Given the description of an element on the screen output the (x, y) to click on. 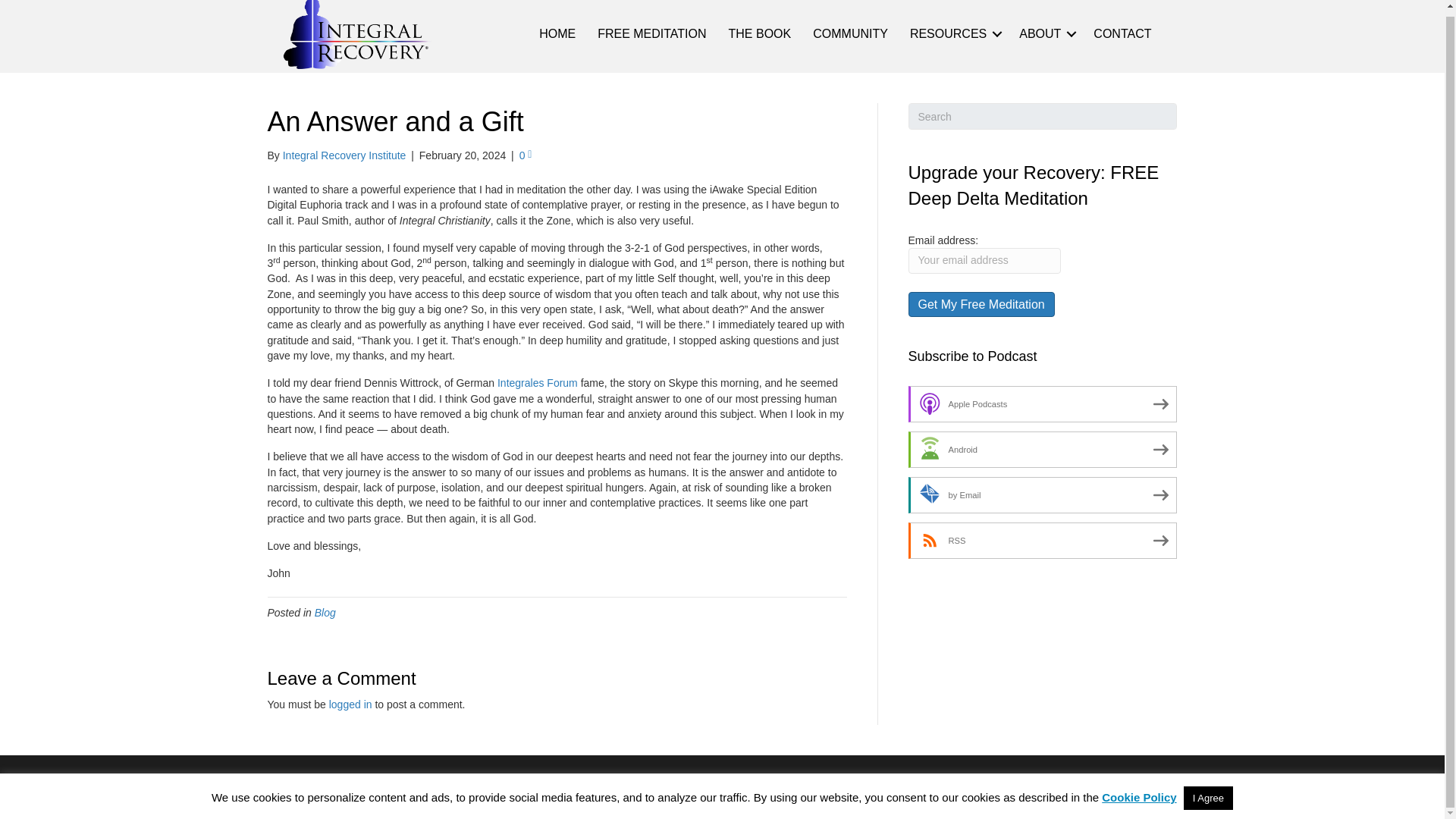
COMMUNITY (850, 33)
I Agree (1208, 792)
Integrales Forum (537, 382)
Cookie Policy (1114, 786)
Home (738, 786)
IR-Logo-Transparent (357, 34)
Privacy Policy (1018, 786)
ABOUT (1045, 33)
Apple Podcasts (1042, 403)
THE BOOK (759, 33)
